Given the description of an element on the screen output the (x, y) to click on. 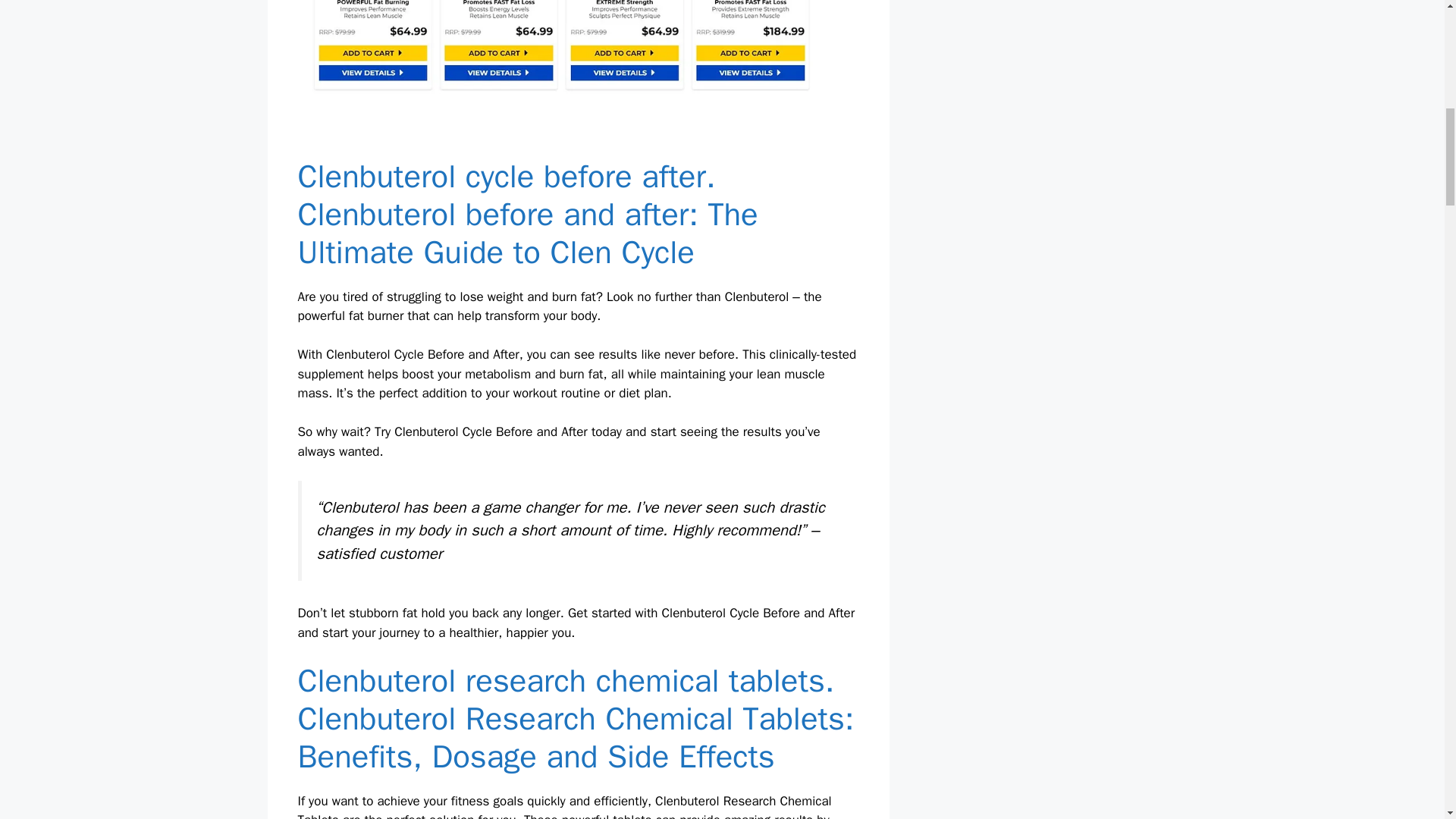
cycle clenbuterol before after (562, 47)
